Given the description of an element on the screen output the (x, y) to click on. 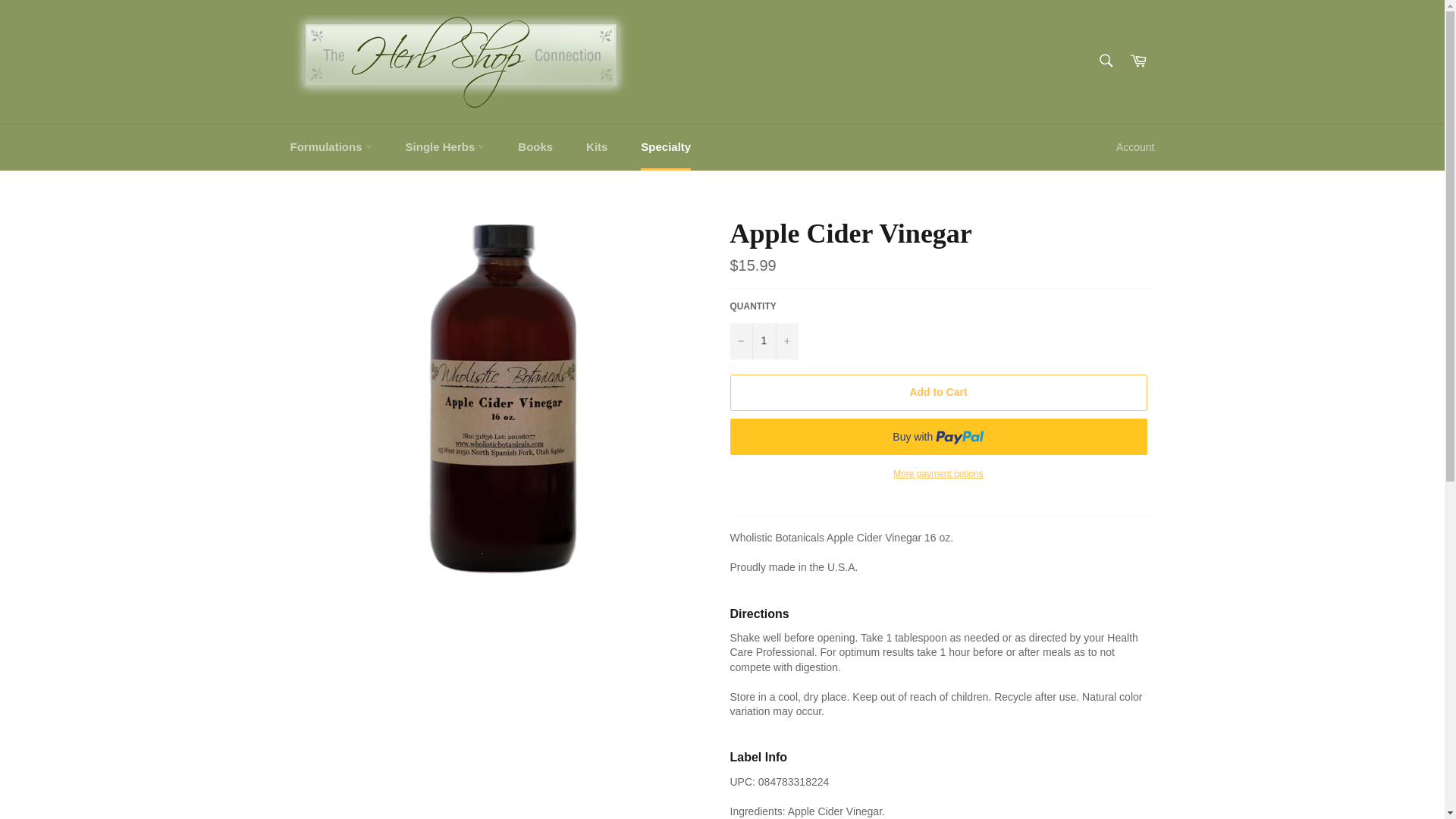
Formulations (331, 147)
Cart (1138, 61)
Single Herbs (445, 147)
1 (763, 340)
Search (1104, 60)
